Given the description of an element on the screen output the (x, y) to click on. 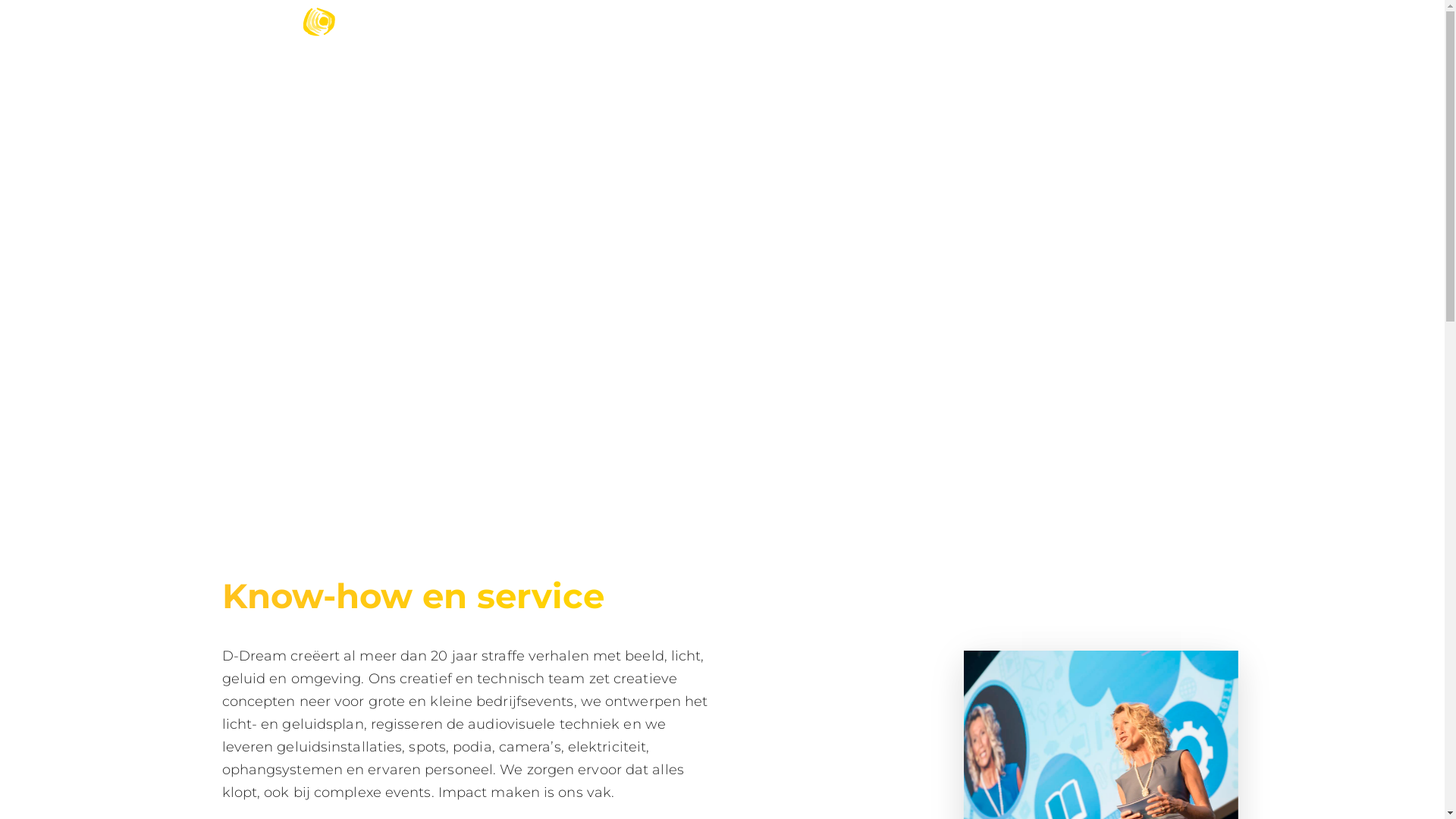
REALISATIES Element type: text (968, 29)
CONTACT Element type: text (1106, 29)
ONS AANBOD Element type: text (773, 29)
Bright Square Element type: text (818, 787)
JOUW EVENT Element type: text (873, 29)
JOBS Element type: text (1042, 29)
HOME Element type: text (693, 29)
